Given the description of an element on the screen output the (x, y) to click on. 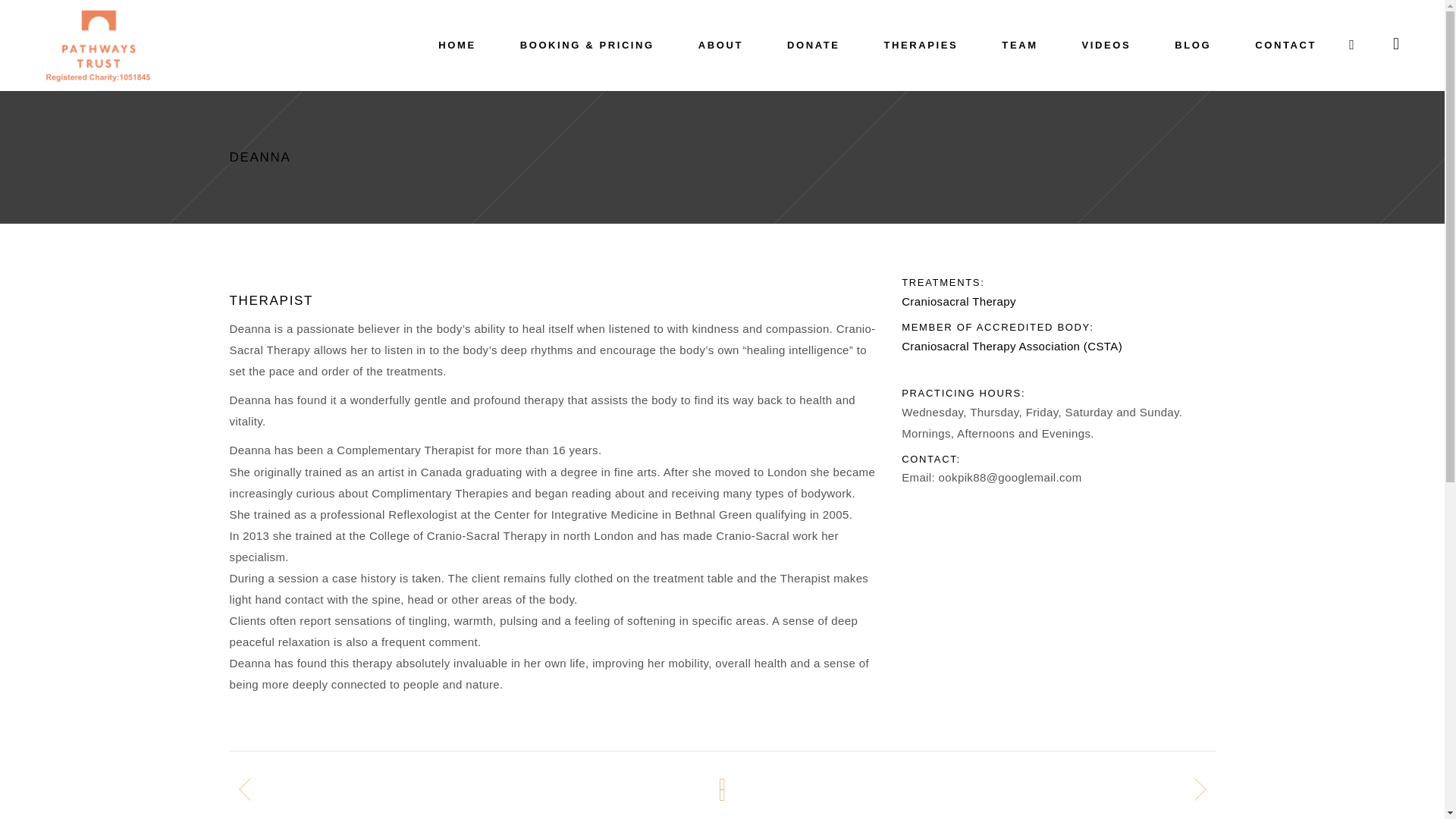
HOME (456, 45)
VIDEOS (1106, 45)
DONATE (813, 45)
CONTACT (1285, 45)
ABOUT (721, 45)
THERAPIES (920, 45)
